Given the description of an element on the screen output the (x, y) to click on. 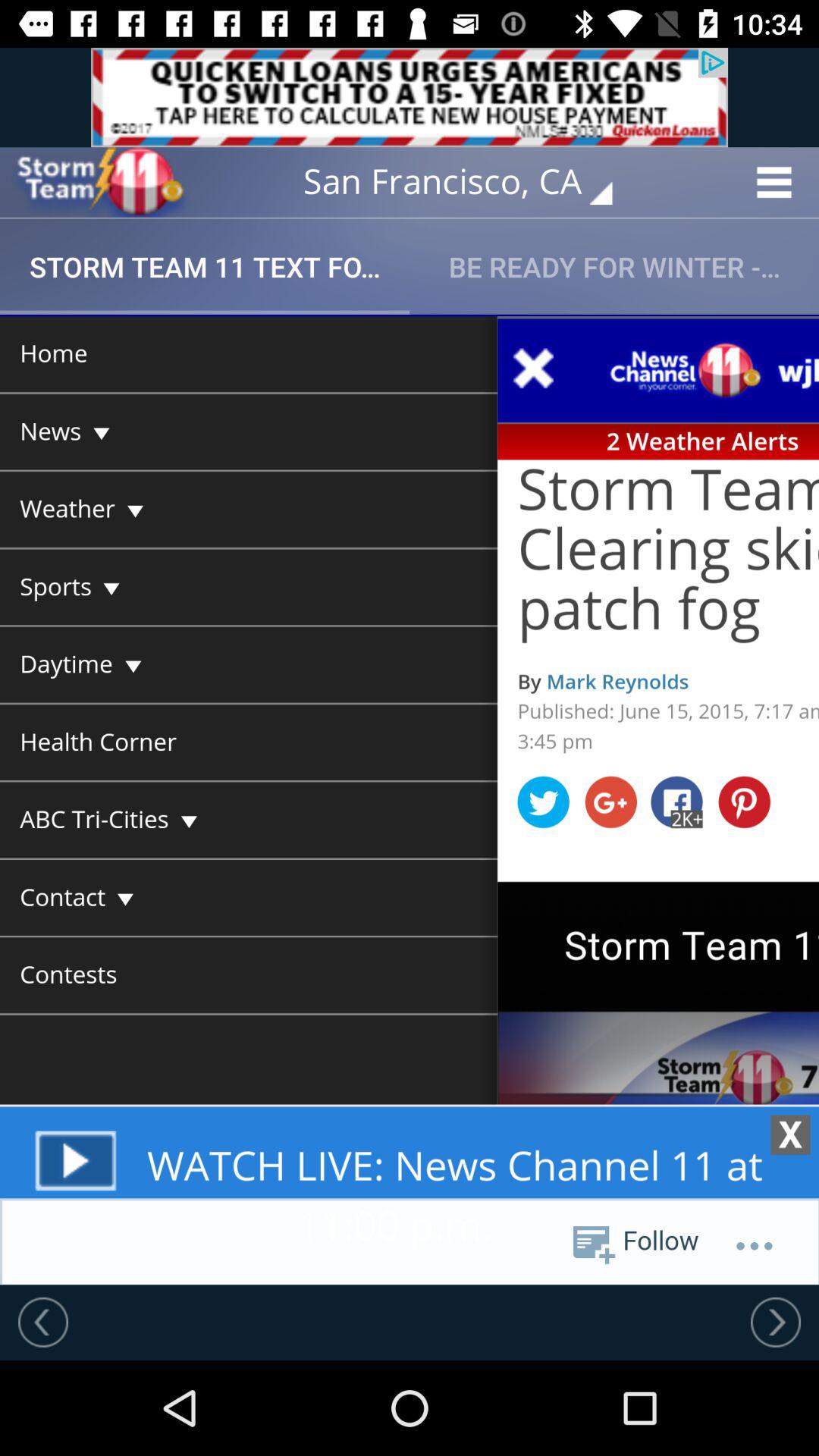
proceed to next (775, 1322)
